Given the description of an element on the screen output the (x, y) to click on. 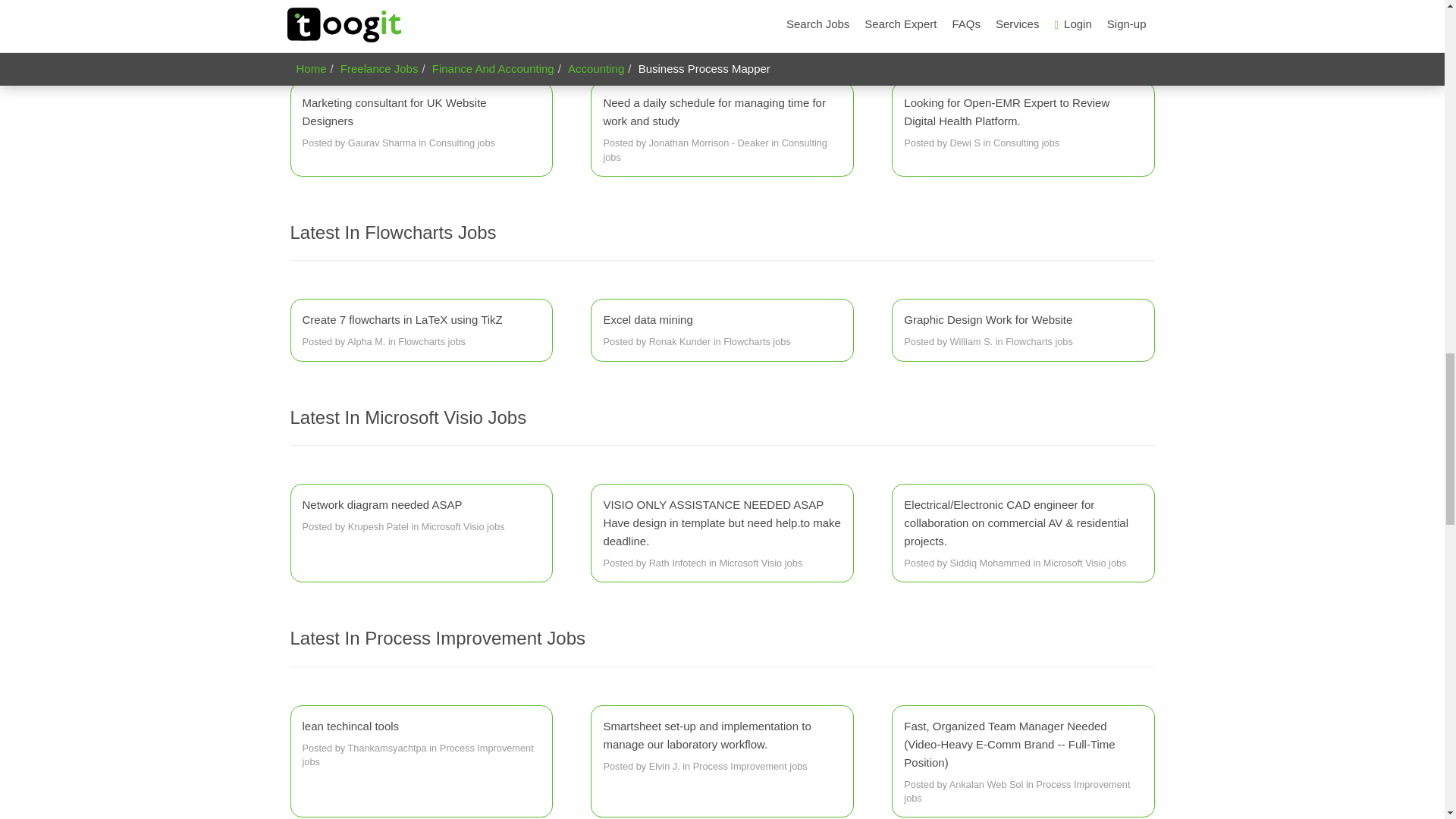
In Consulting: IT Policies and Procedures (420, 11)
In Flowcharts: Create 7 flowcharts in LaTeX using TikZ (420, 330)
In Consulting: Marketing consultant for UK Website Designers (420, 122)
In Flowcharts: Graphic Design Work for Website (1022, 330)
In Flowcharts: Excel data mining (721, 330)
